Given the description of an element on the screen output the (x, y) to click on. 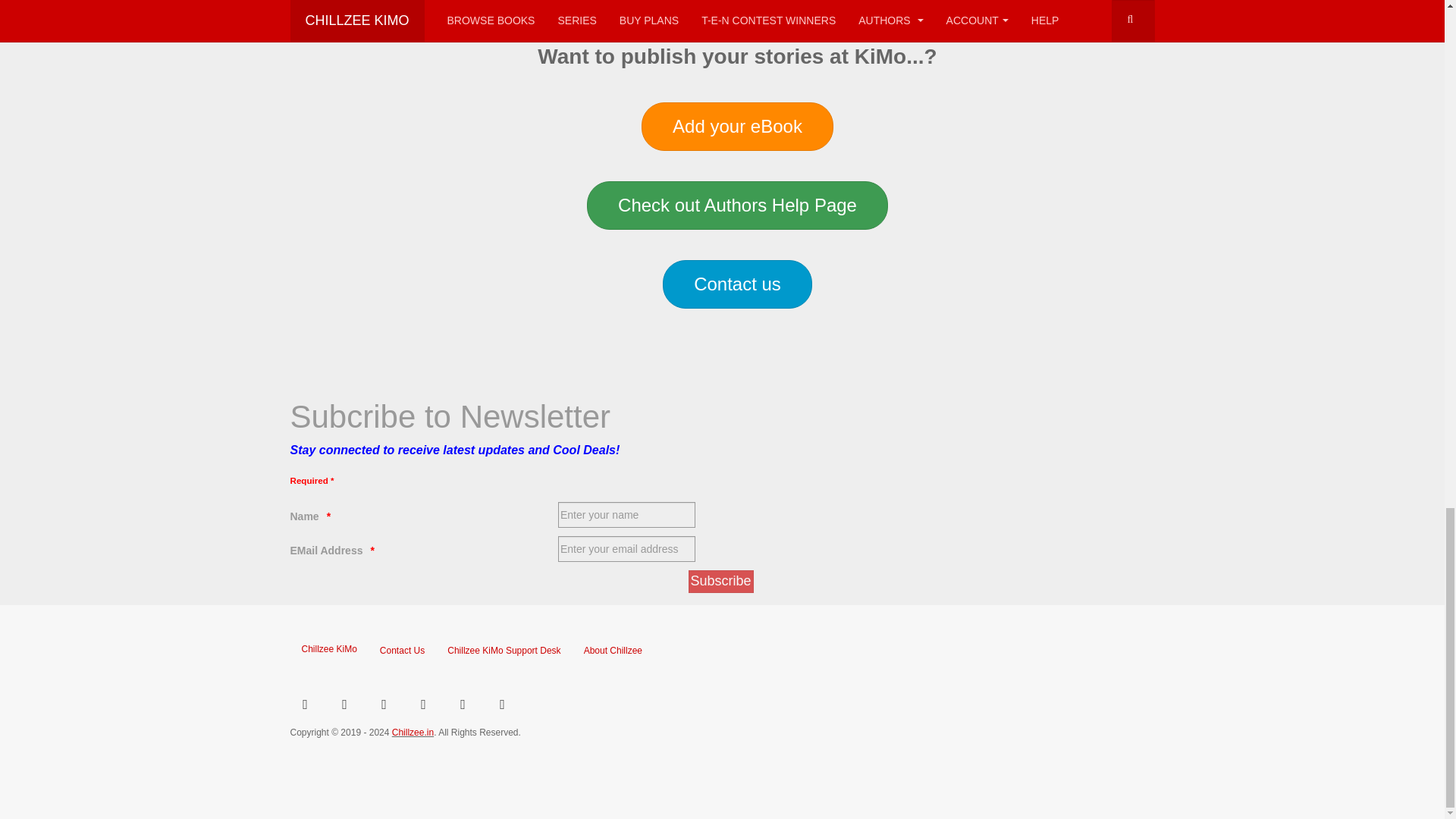
Subscribe (721, 581)
Chillzee KiMo Support Desk (503, 651)
Chillzee.in (412, 732)
Instagram (383, 702)
Pinterest (461, 702)
Contact Us (401, 651)
Twitter (344, 702)
Pinterest (422, 702)
Add your eBook (737, 126)
About Chillzee (612, 651)
Enter your email address (325, 550)
Subscribe (721, 581)
Contact us (737, 284)
Check out Authors Help Page (737, 205)
Facebook (304, 702)
